Given the description of an element on the screen output the (x, y) to click on. 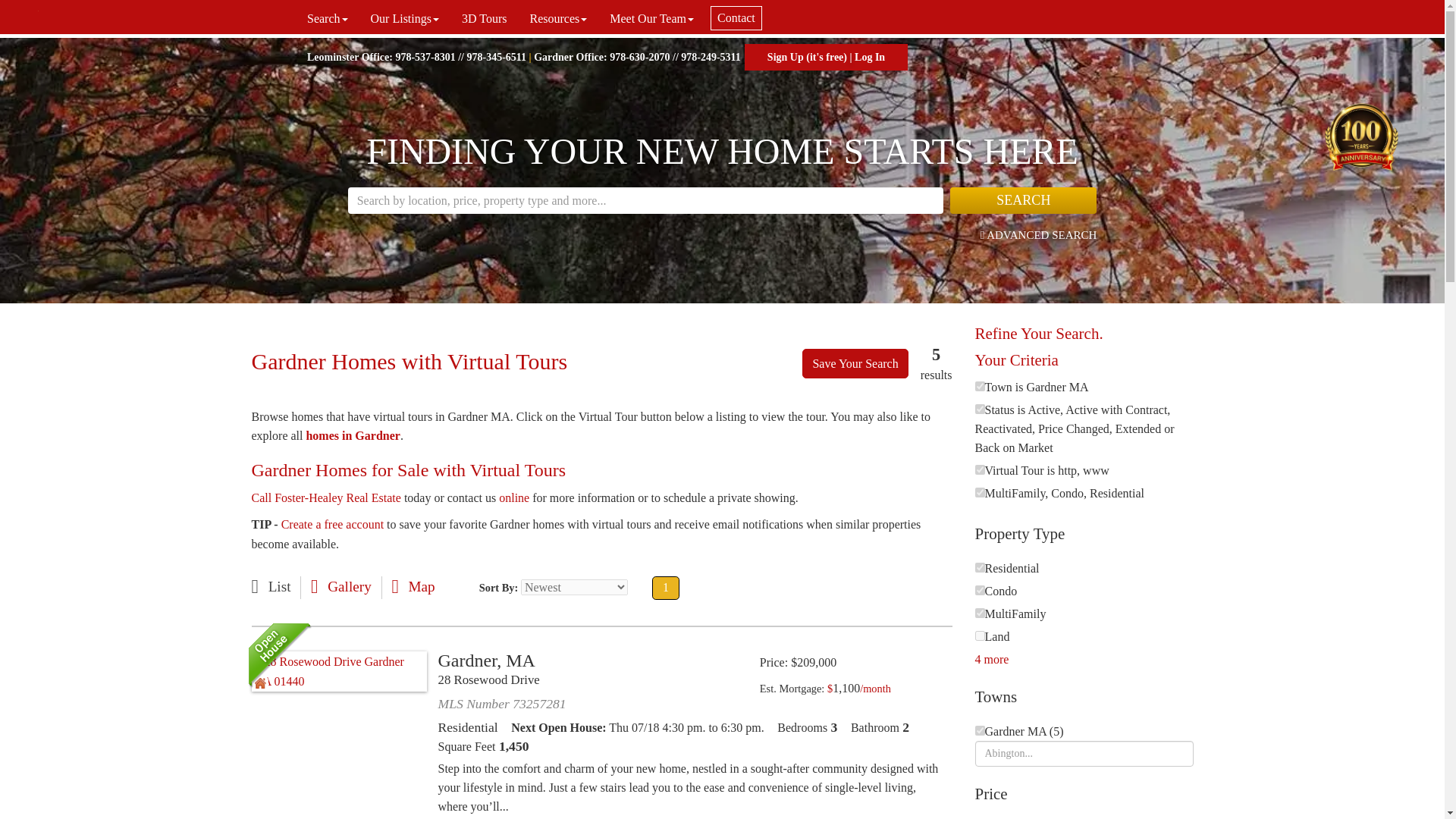
Resources (558, 18)
Search (327, 18)
on (980, 470)
sfr (980, 567)
lnd (980, 635)
on (980, 409)
on (980, 492)
click to adjust (859, 688)
Meet Our Team (651, 18)
Gardner MA (980, 730)
cnd (980, 590)
Gardner MA (980, 386)
Our Listings (404, 18)
3D Tours (483, 18)
mfr (980, 613)
